Given the description of an element on the screen output the (x, y) to click on. 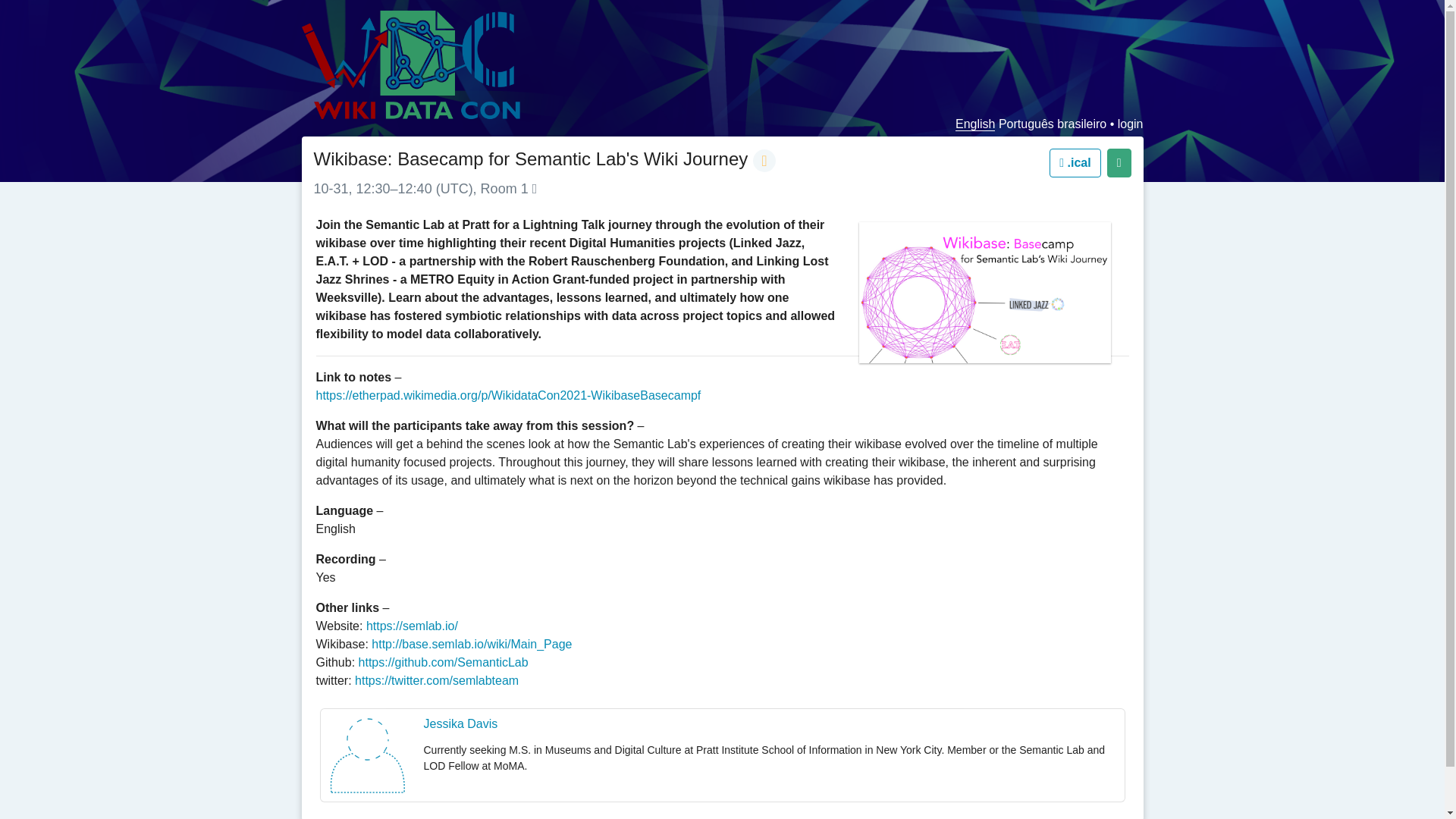
Jessika Davis (460, 723)
login (1130, 124)
English (974, 124)
.ical (1074, 162)
